Given the description of an element on the screen output the (x, y) to click on. 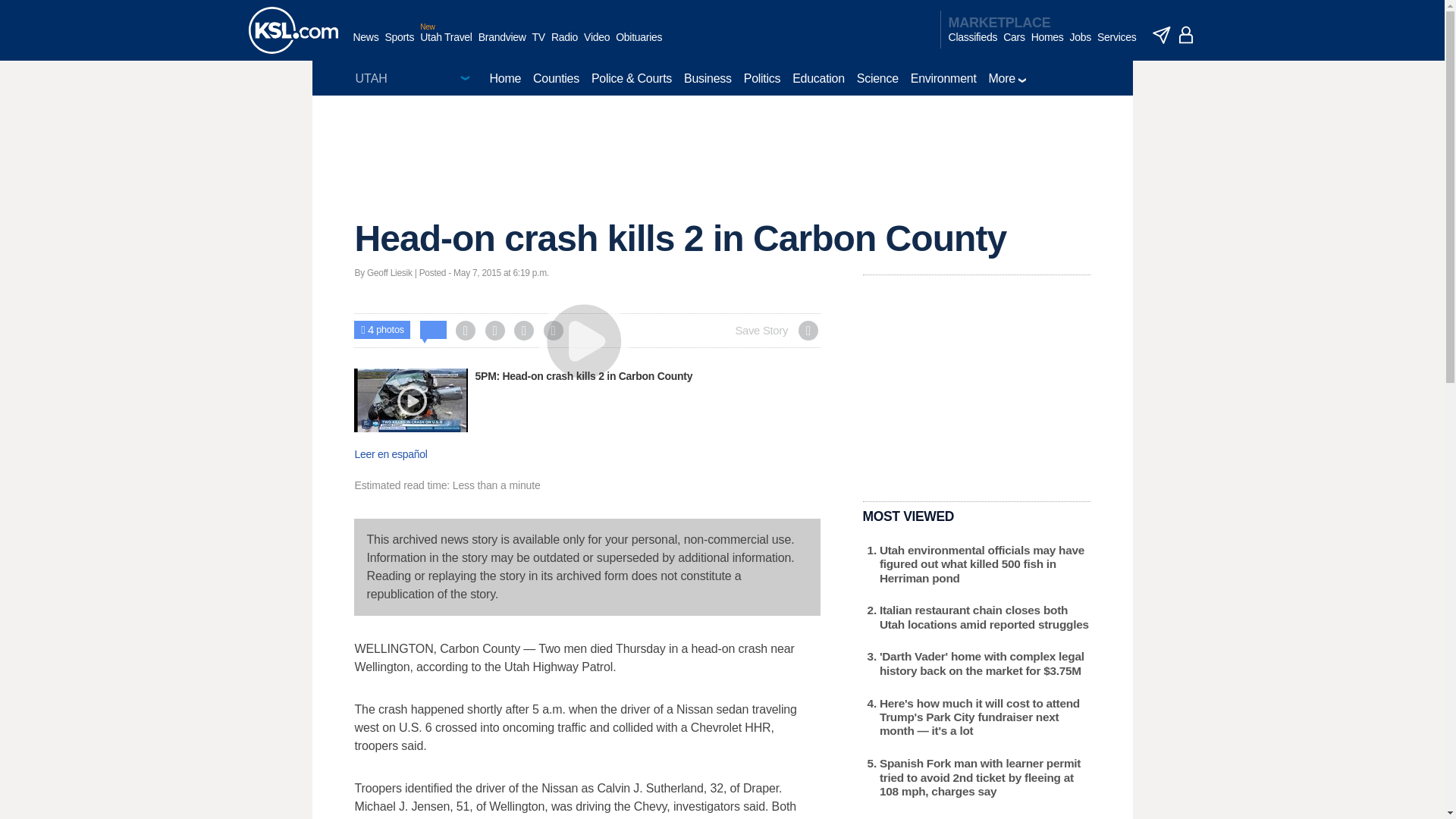
account - logged out (1185, 34)
KSL homepage (292, 30)
KSL homepage (292, 29)
Brandview (502, 45)
Sports (398, 45)
Utah Travel (445, 45)
